Given the description of an element on the screen output the (x, y) to click on. 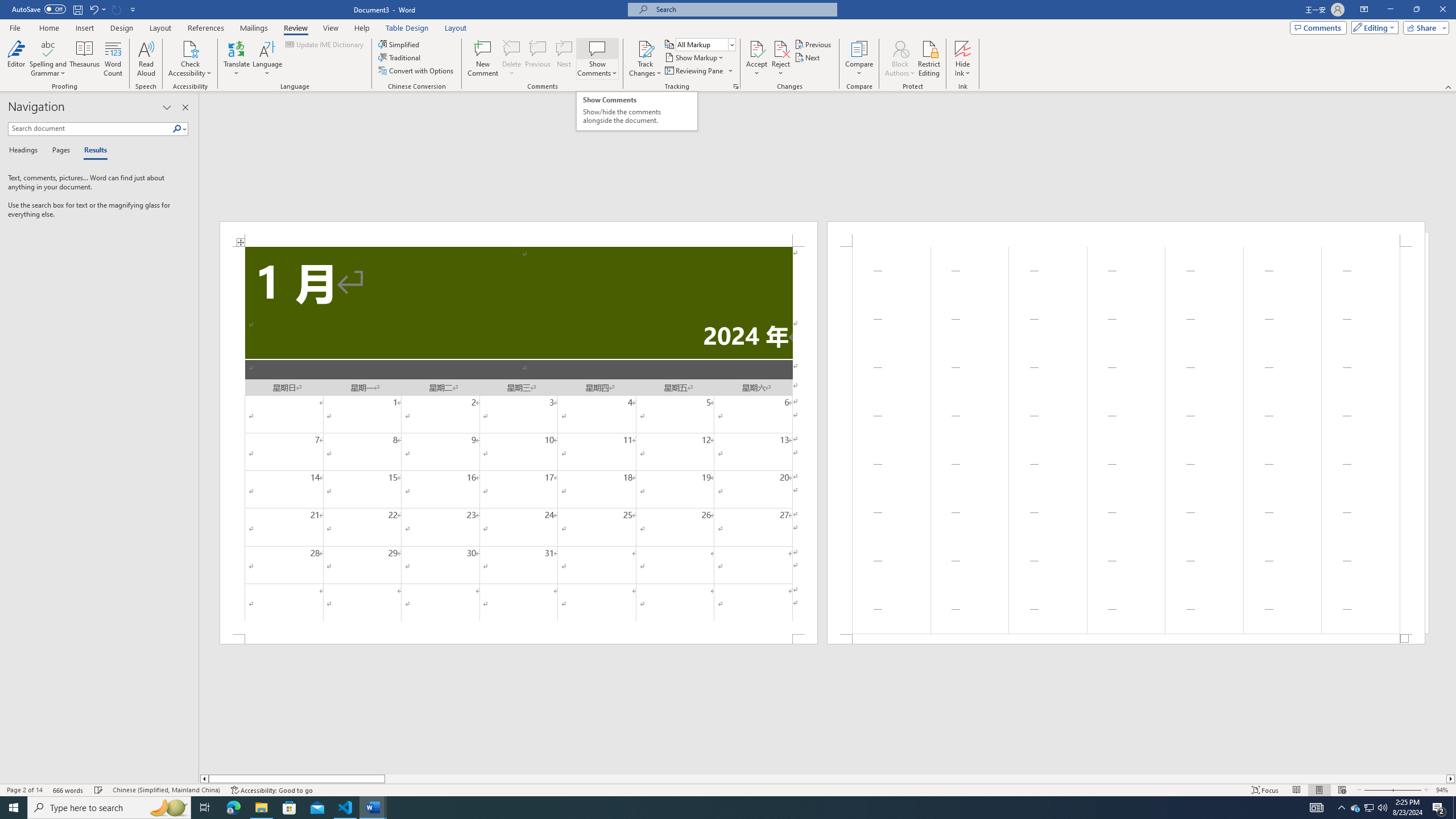
Block Authors (900, 48)
Word Count (113, 58)
Delete (511, 48)
Change Tracking Options... (735, 85)
Can't Repeat (117, 9)
Previous (813, 44)
Show Comments (597, 58)
